Given the description of an element on the screen output the (x, y) to click on. 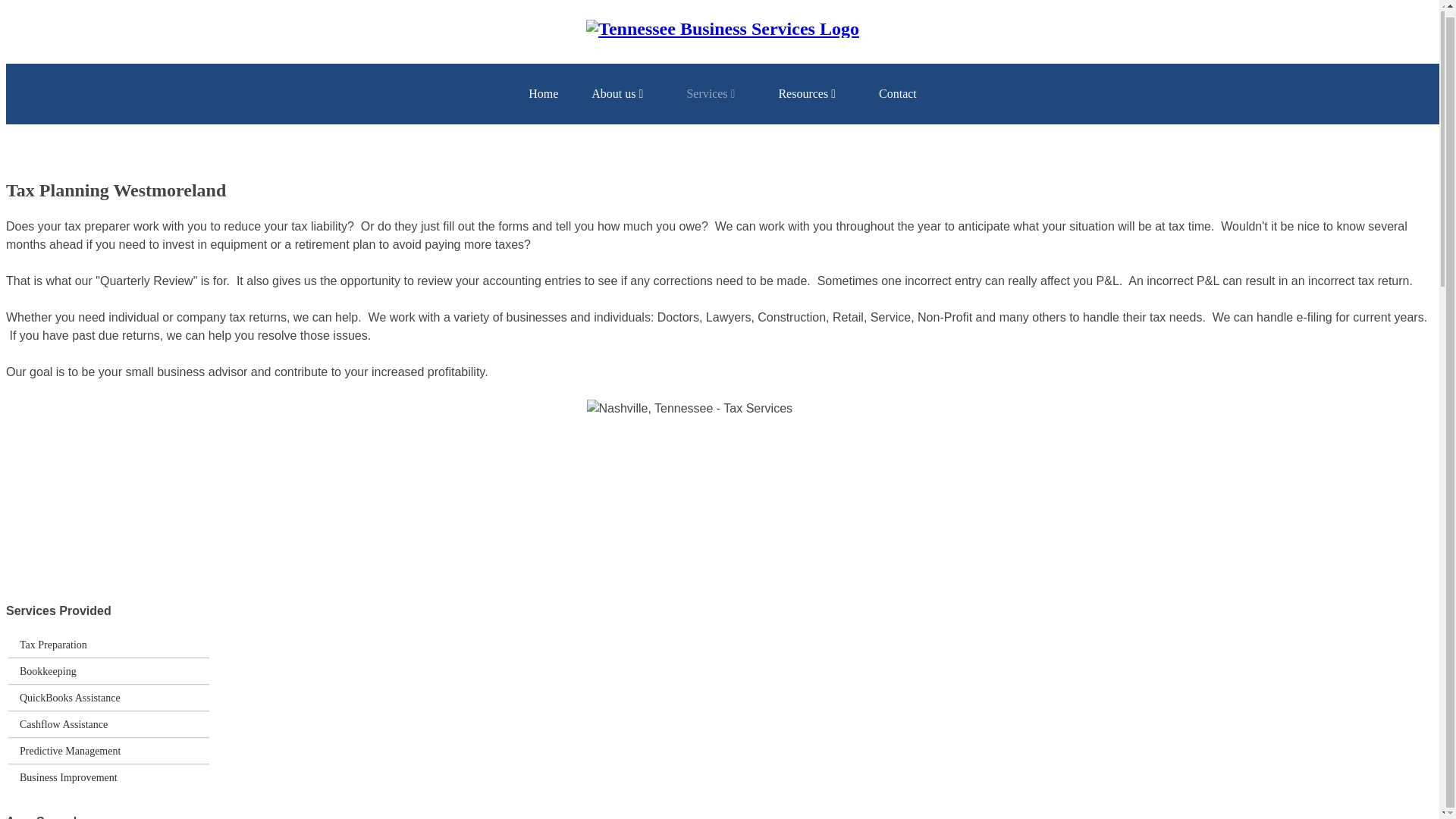
Predictive Management (70, 750)
Bookkeeping (48, 671)
QuickBooks Assistance (70, 697)
Home (543, 93)
About us (622, 93)
Resources (811, 93)
tax (722, 478)
Business Improvement (68, 777)
Tax Preparation (53, 644)
Services (715, 93)
Cashflow Assistance (63, 724)
Contact (897, 93)
